Given the description of an element on the screen output the (x, y) to click on. 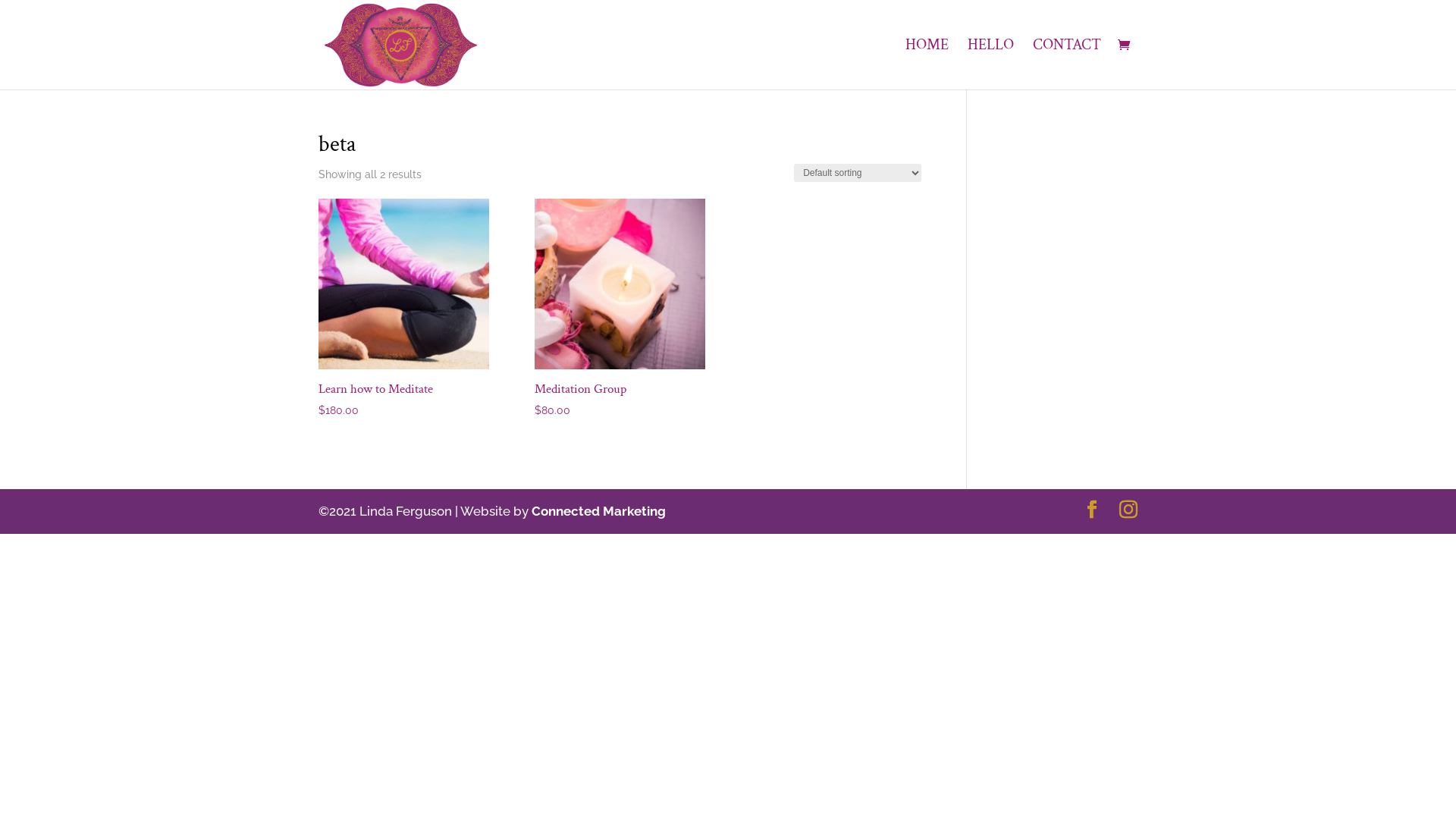
Learn how to Meditate
$180.00 Element type: text (403, 309)
Connected Marketing Element type: text (598, 510)
Meditation Group
$80.00 Element type: text (619, 309)
HOME Element type: text (926, 64)
CONTACT Element type: text (1066, 64)
HELLO Element type: text (990, 64)
